Given the description of an element on the screen output the (x, y) to click on. 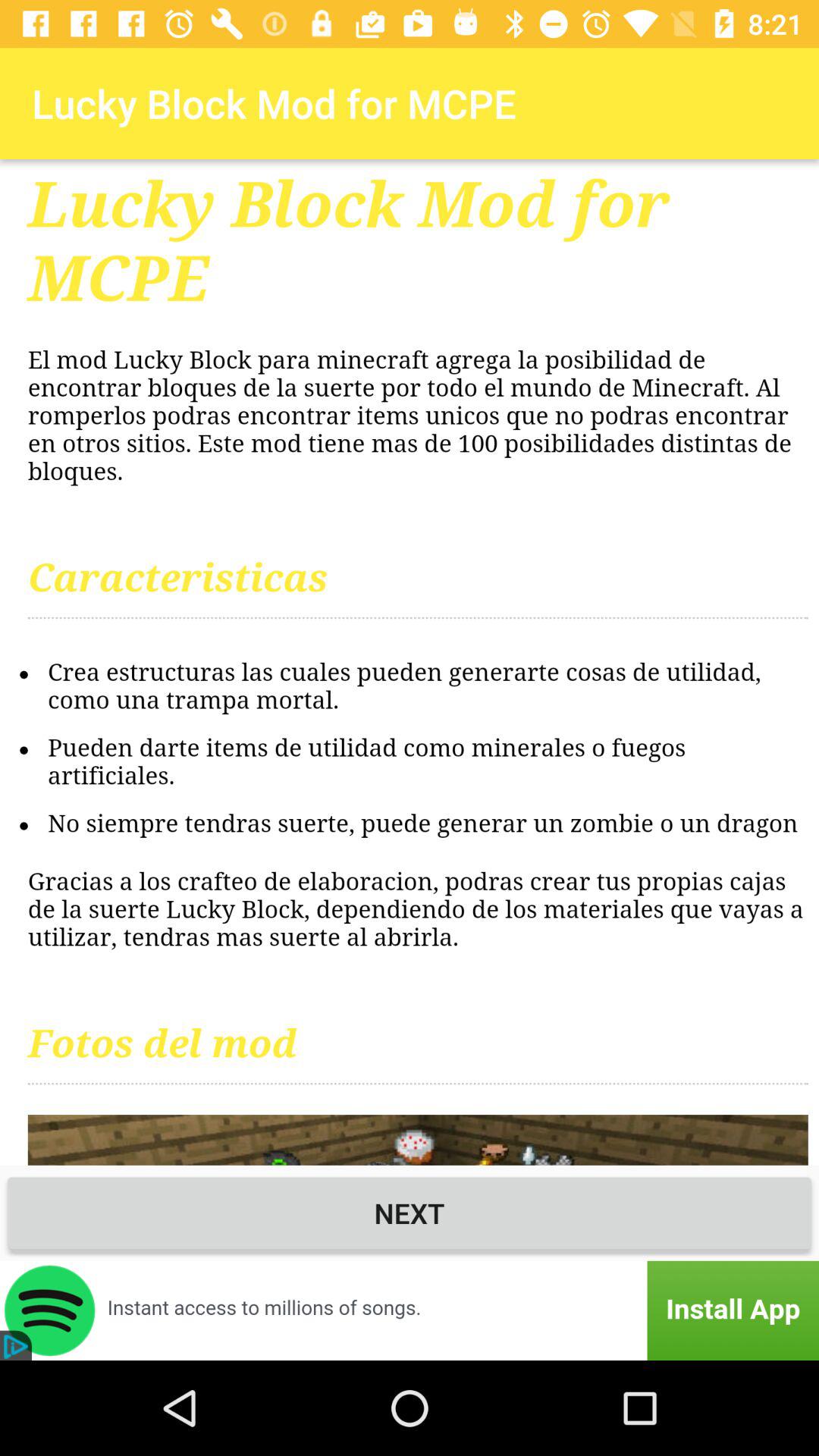
share advertisement (409, 1310)
